Given the description of an element on the screen output the (x, y) to click on. 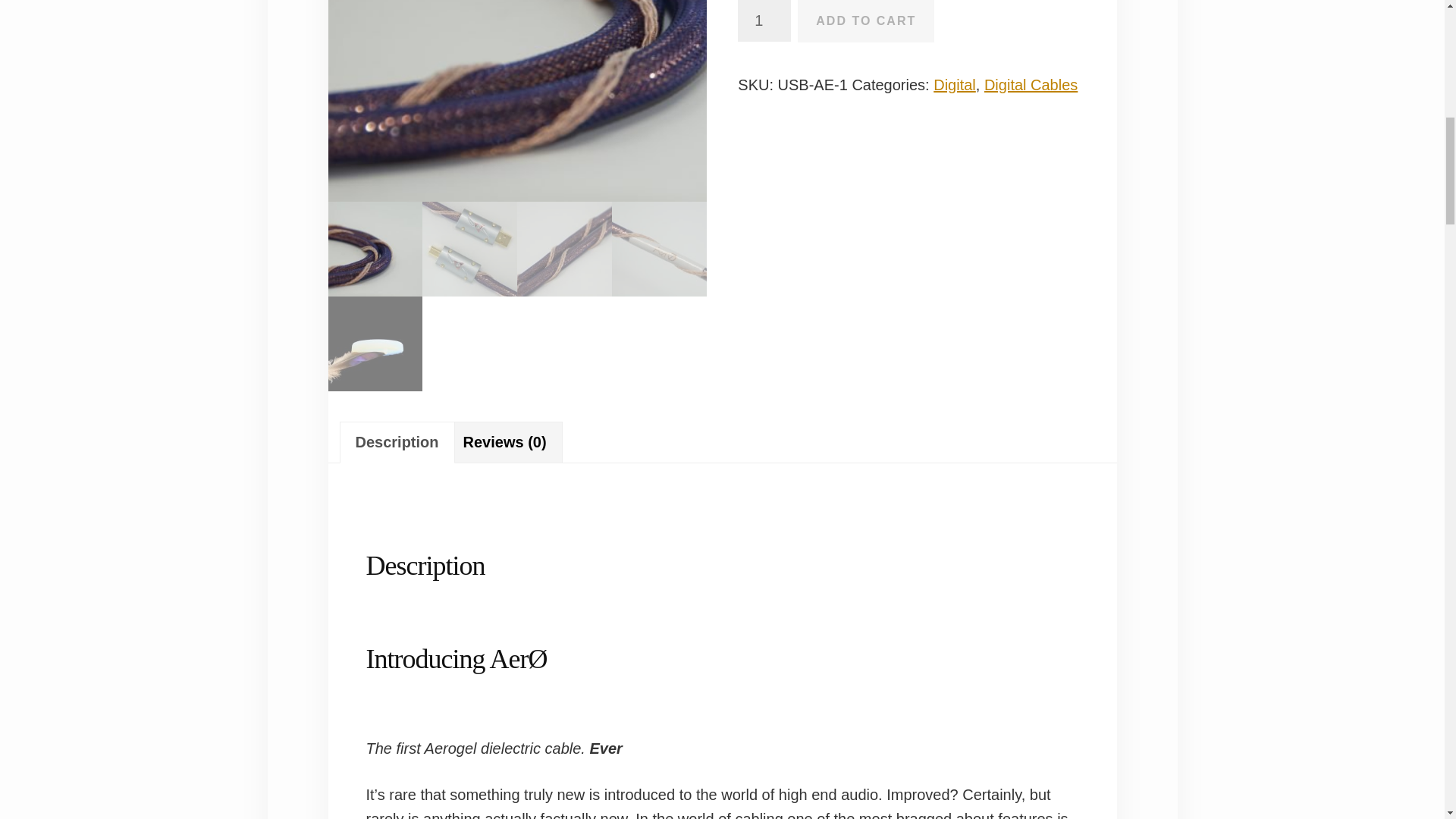
Digital Cables (1030, 84)
ADD TO CART (865, 21)
Description (395, 442)
1 (764, 20)
Digital (954, 84)
